Given the description of an element on the screen output the (x, y) to click on. 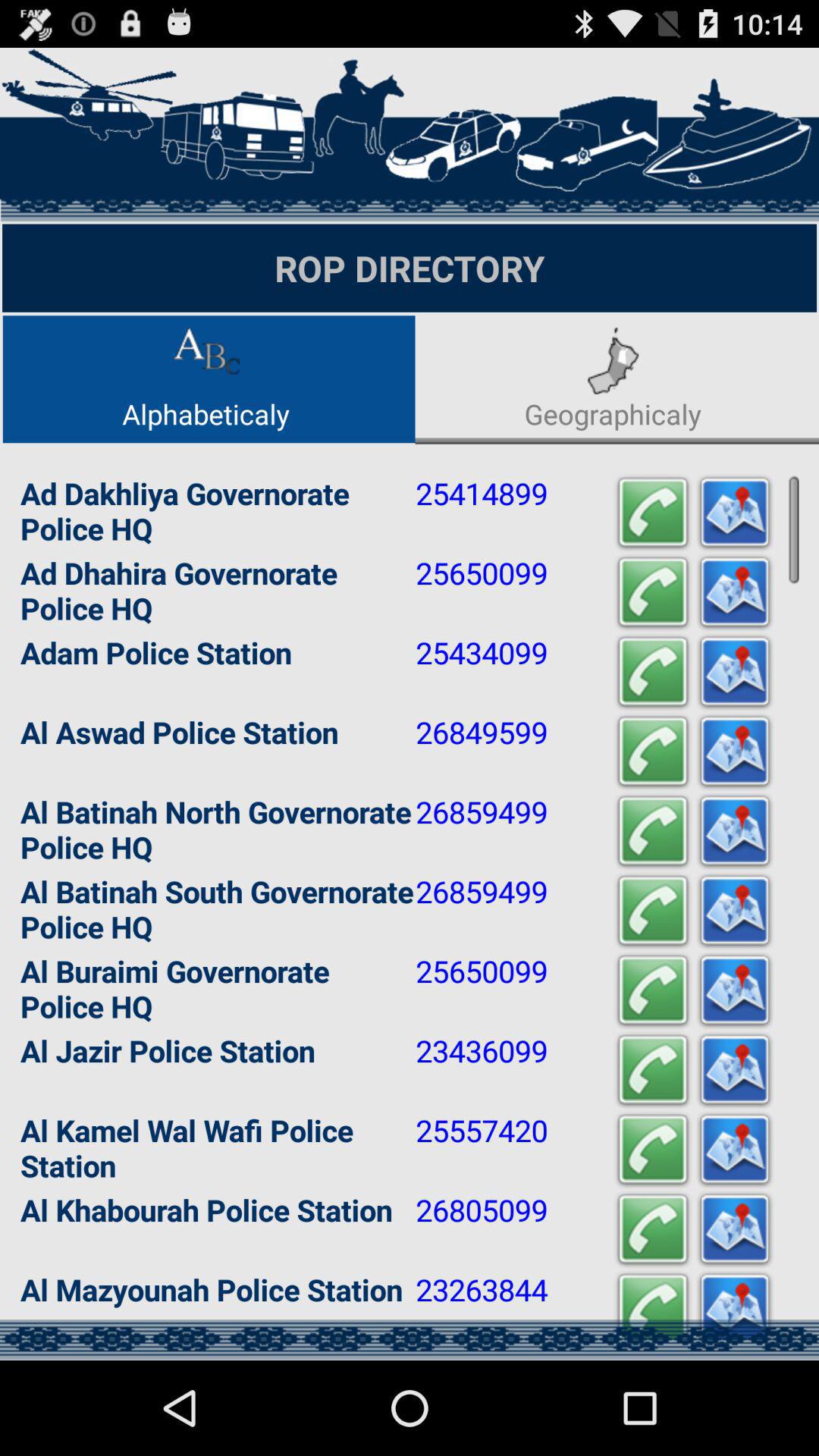
blinking call button (652, 672)
